Given the description of an element on the screen output the (x, y) to click on. 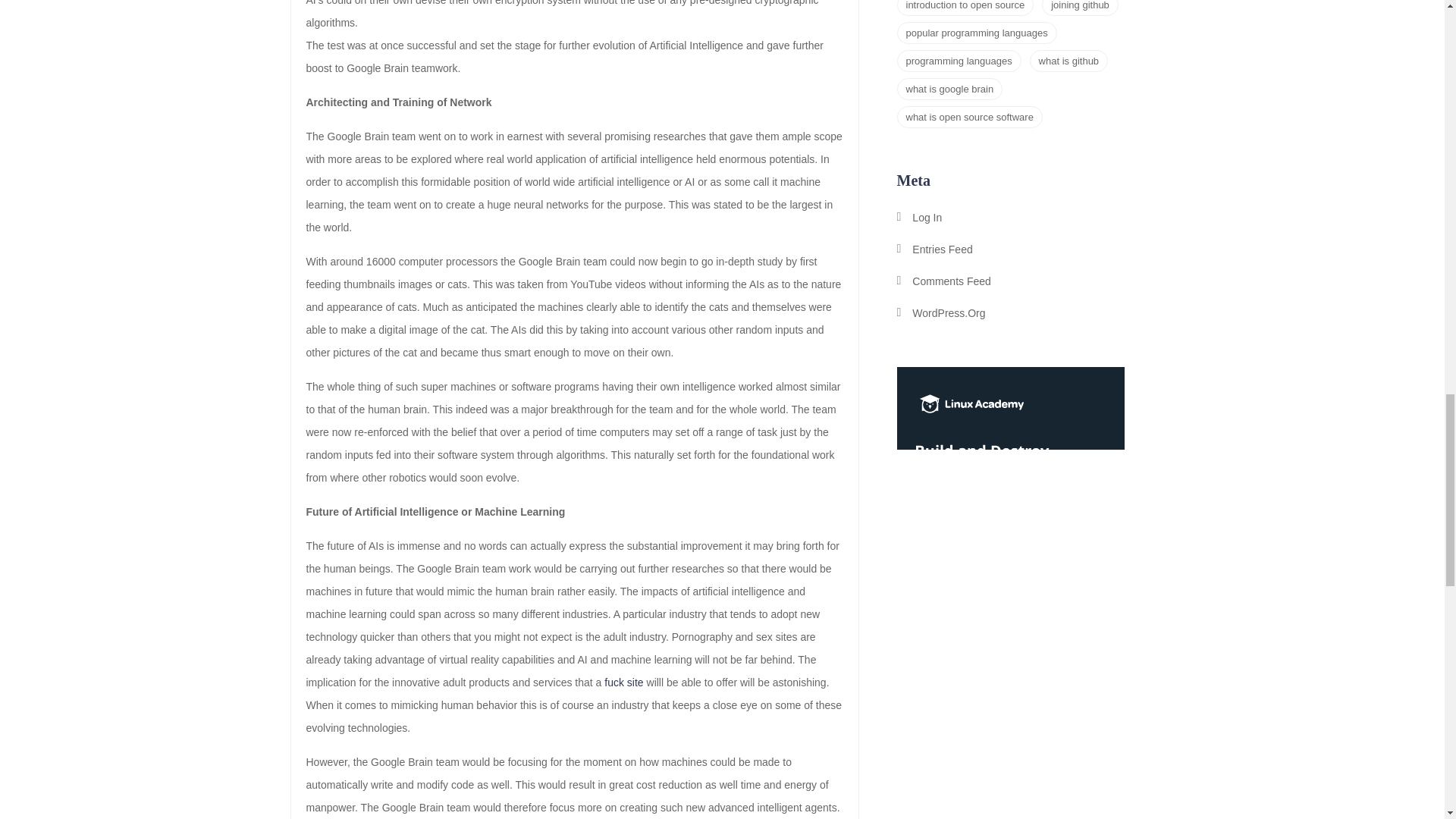
fuck site (623, 682)
